Given the description of an element on the screen output the (x, y) to click on. 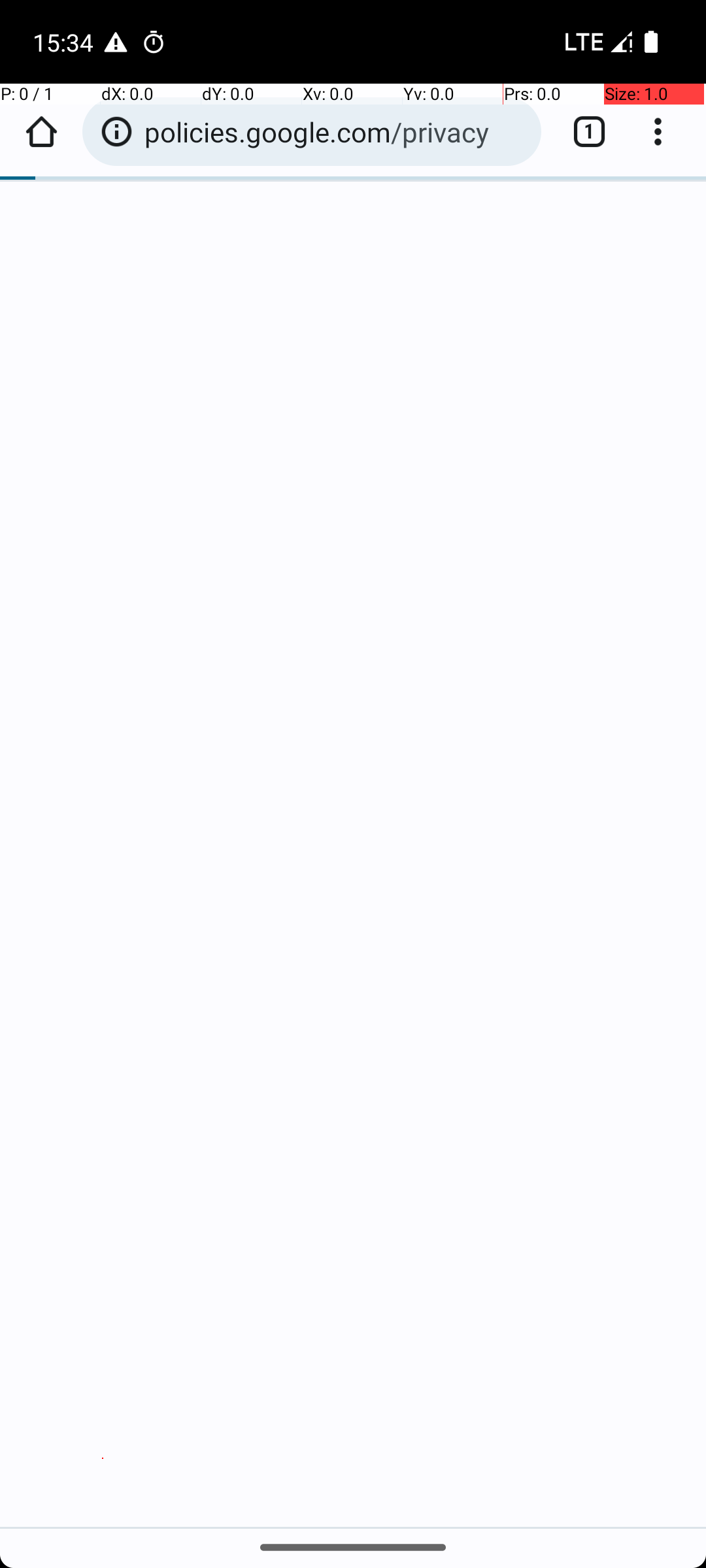
Web View Element type: android.widget.FrameLayout (353, 804)
policies.google.com/privacy Element type: android.widget.EditText (335, 131)
Switch or close tabs Element type: android.widget.ImageButton (582, 131)
